Given the description of an element on the screen output the (x, y) to click on. 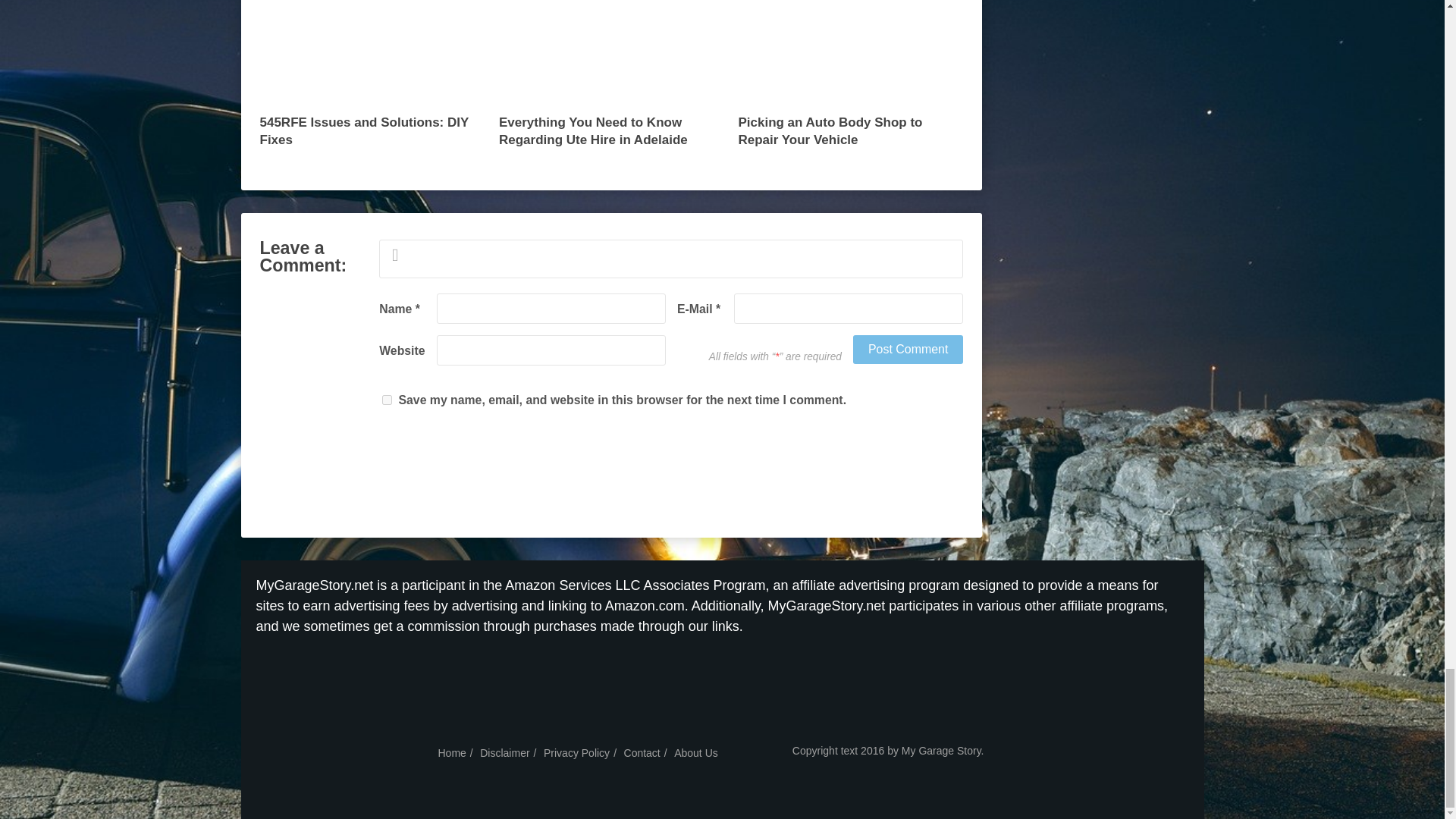
Post Comment (907, 348)
545RFE Issues and Solutions: DIY Fixes (371, 80)
yes (386, 399)
Everything You Need to Know Regarding Ute Hire in Adelaide (611, 80)
